Given the description of an element on the screen output the (x, y) to click on. 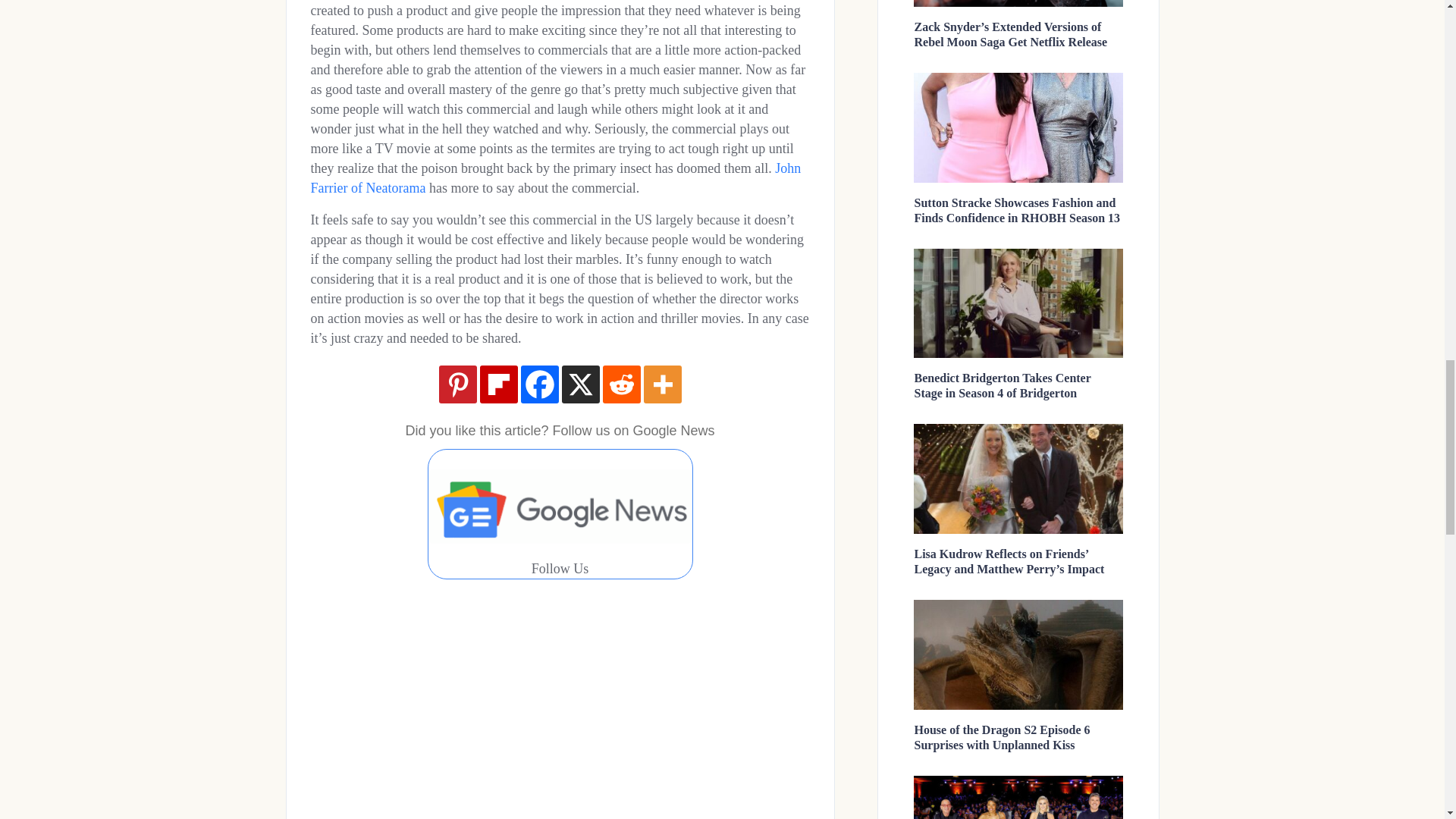
Pinterest (457, 384)
X (579, 384)
Facebook (538, 384)
Flipboard (497, 384)
Reddit (621, 384)
More (662, 384)
